Given the description of an element on the screen output the (x, y) to click on. 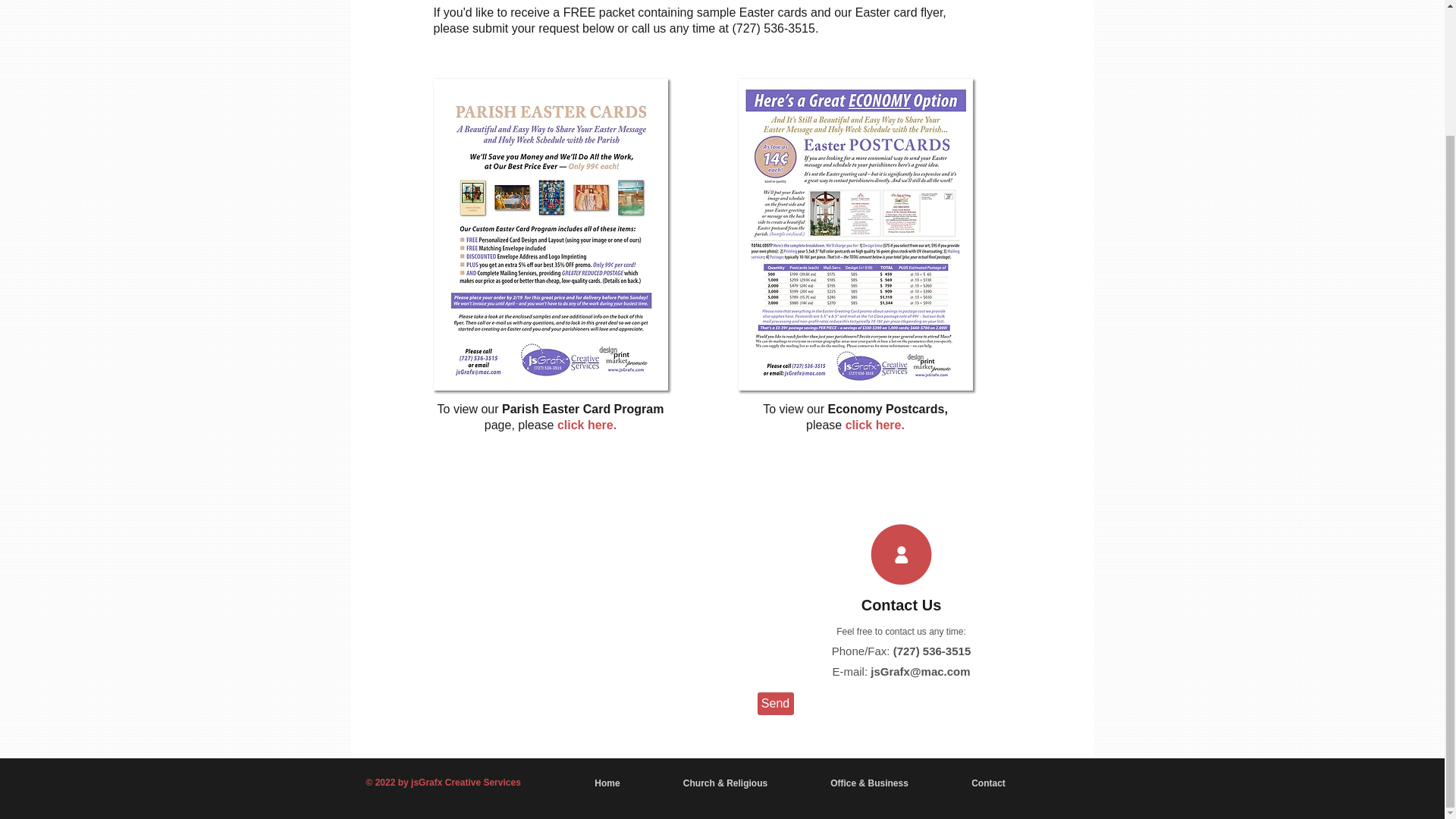
click here. (586, 424)
Send (775, 703)
Contact (988, 783)
click here. (874, 424)
Home (606, 783)
